Given the description of an element on the screen output the (x, y) to click on. 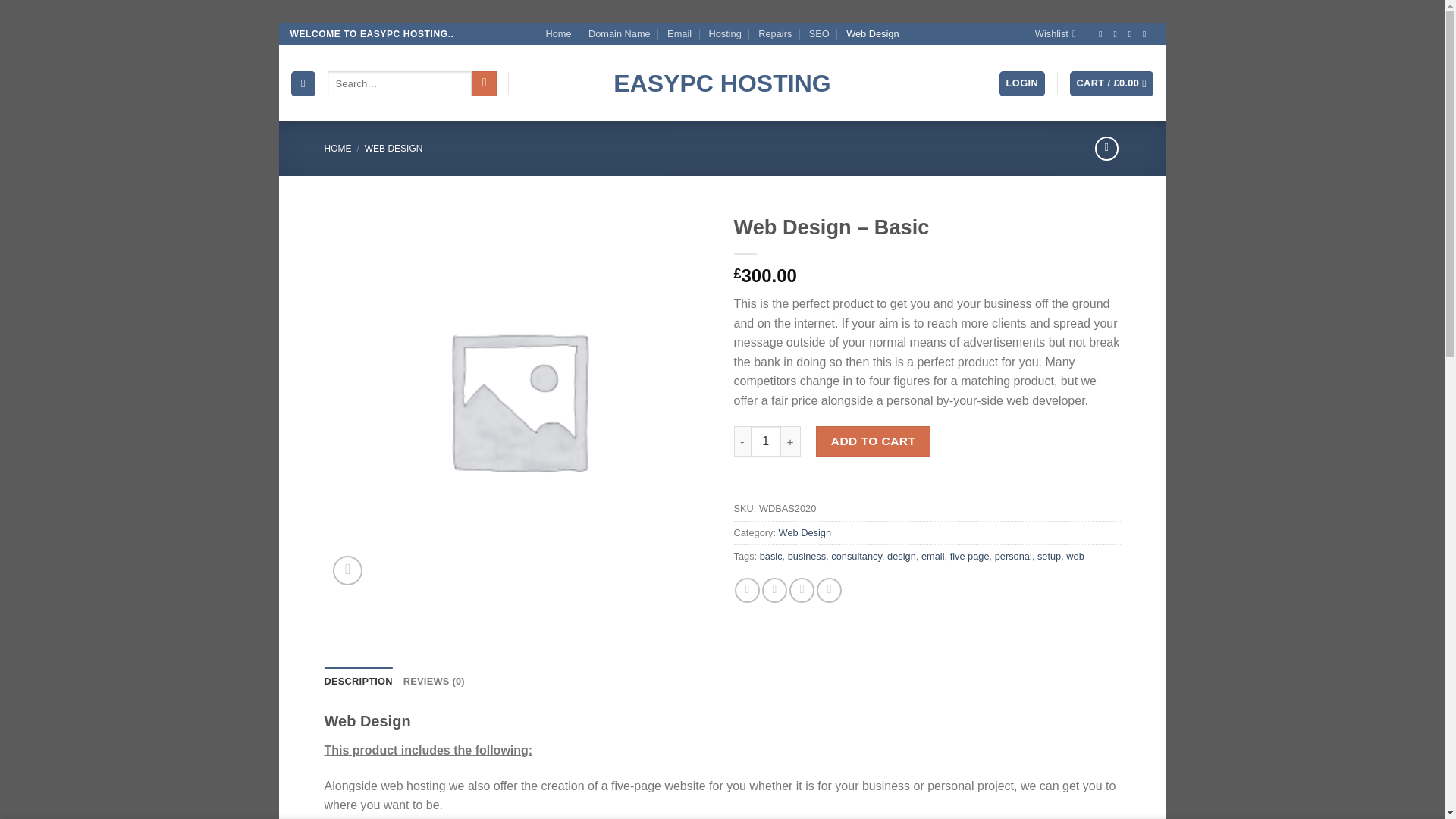
Domain Name (619, 33)
Zoom (347, 570)
EasyPC Hosting - Cloud Hosting Services  (722, 83)
1 (765, 440)
WEB DESIGN (394, 148)
Repairs (775, 33)
Email to a Friend (801, 590)
Home (557, 33)
Share on Twitter (774, 590)
